Given the description of an element on the screen output the (x, y) to click on. 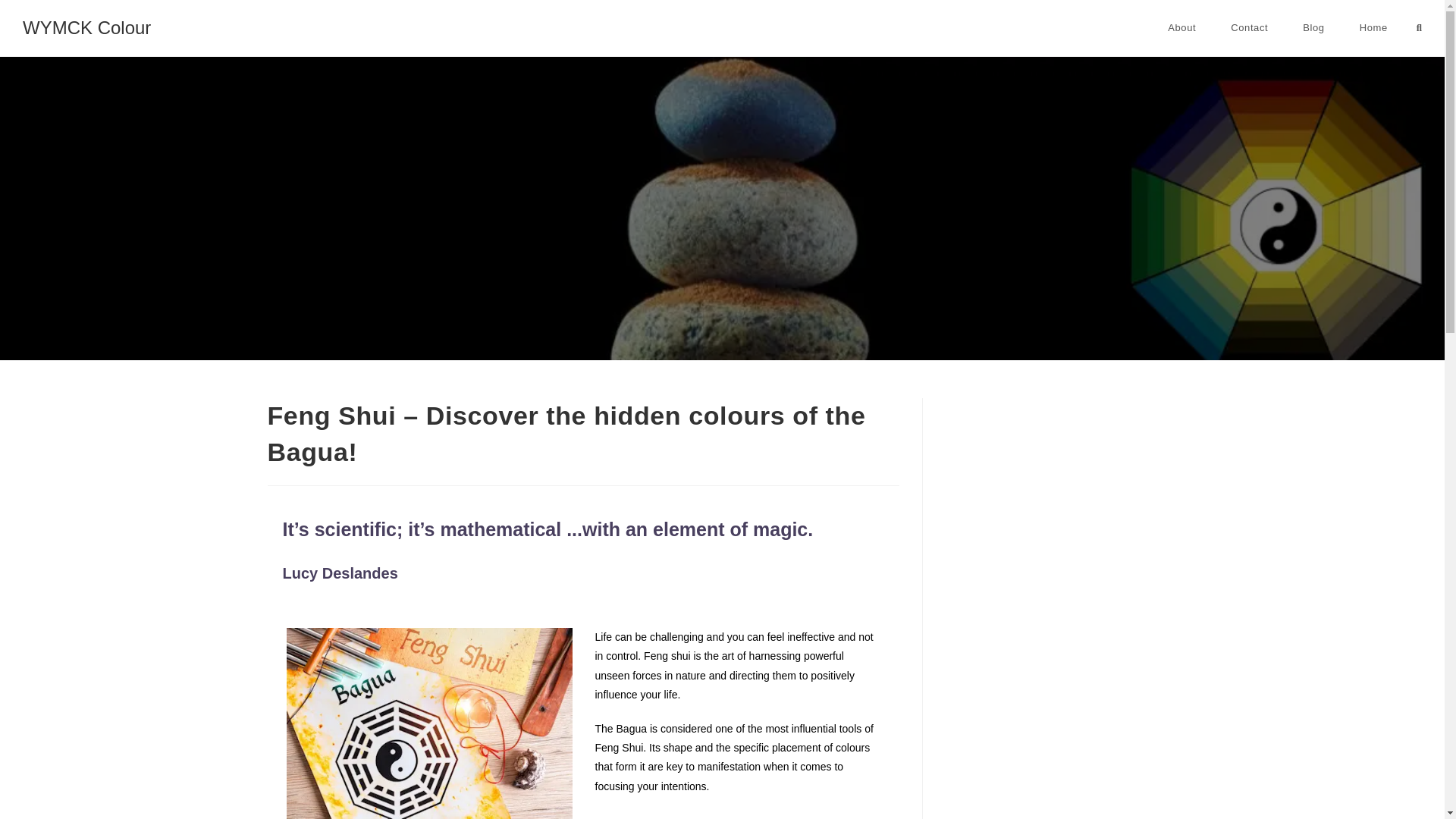
Contact (1248, 28)
About (1181, 28)
WYMCK Colour (87, 27)
Home (1373, 28)
Blog (1312, 28)
